Given the description of an element on the screen output the (x, y) to click on. 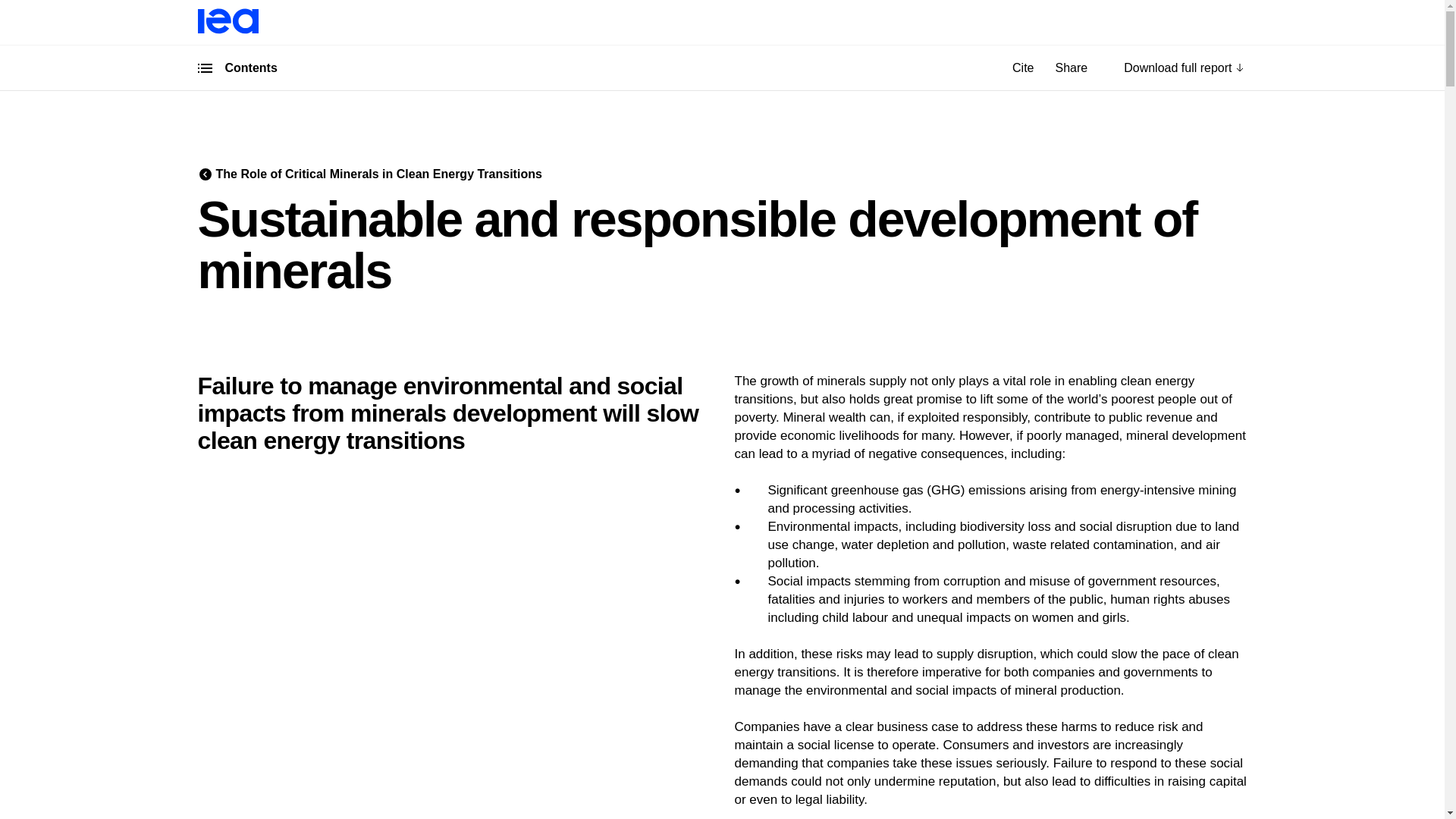
The Role of Critical Minerals in Clean Energy Transitions (204, 174)
Open Navigation (204, 68)
logo (226, 21)
arrow-down (1238, 68)
IEA (226, 30)
